Given the description of an element on the screen output the (x, y) to click on. 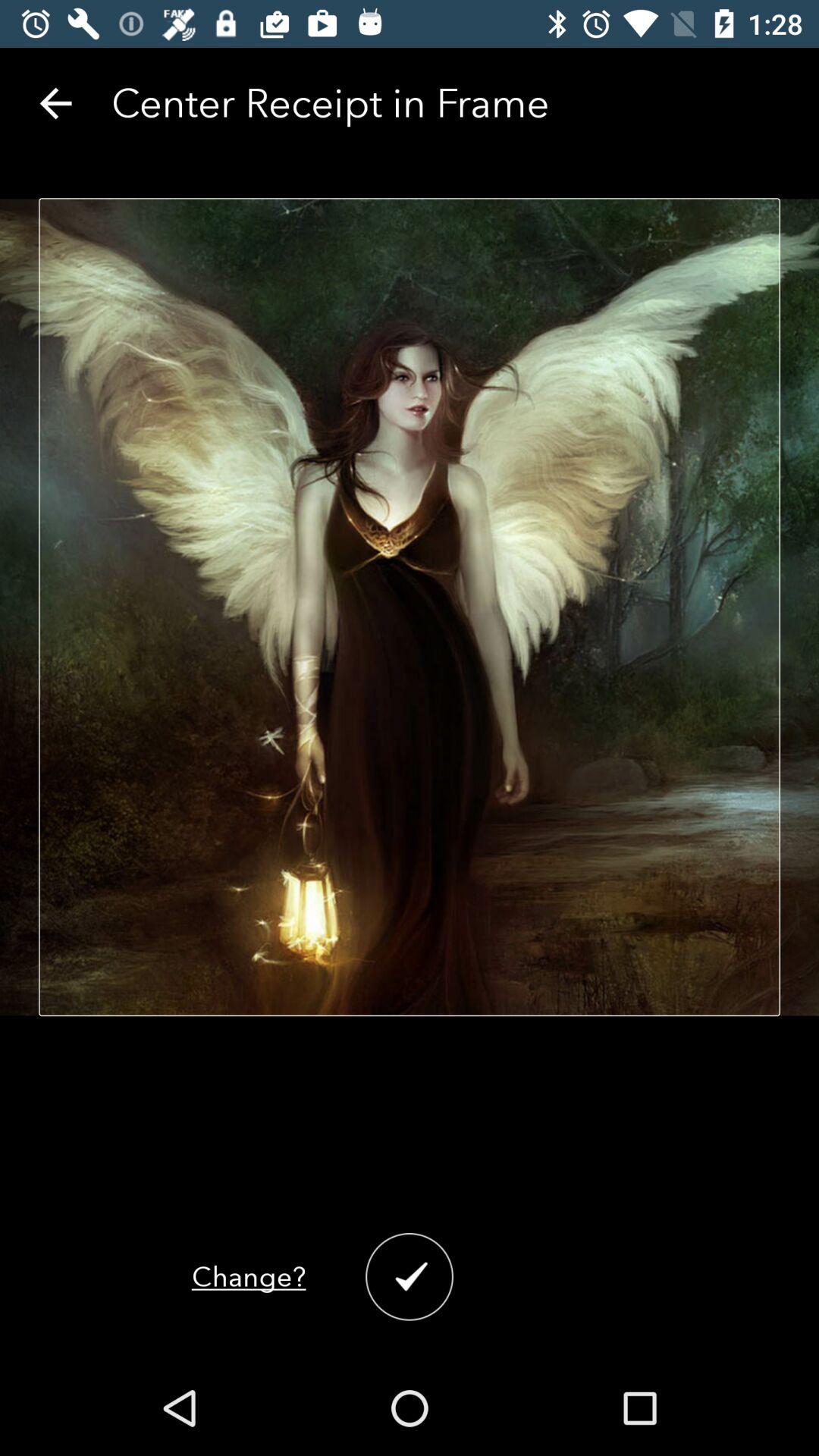
flip to the change? item (248, 1276)
